Given the description of an element on the screen output the (x, y) to click on. 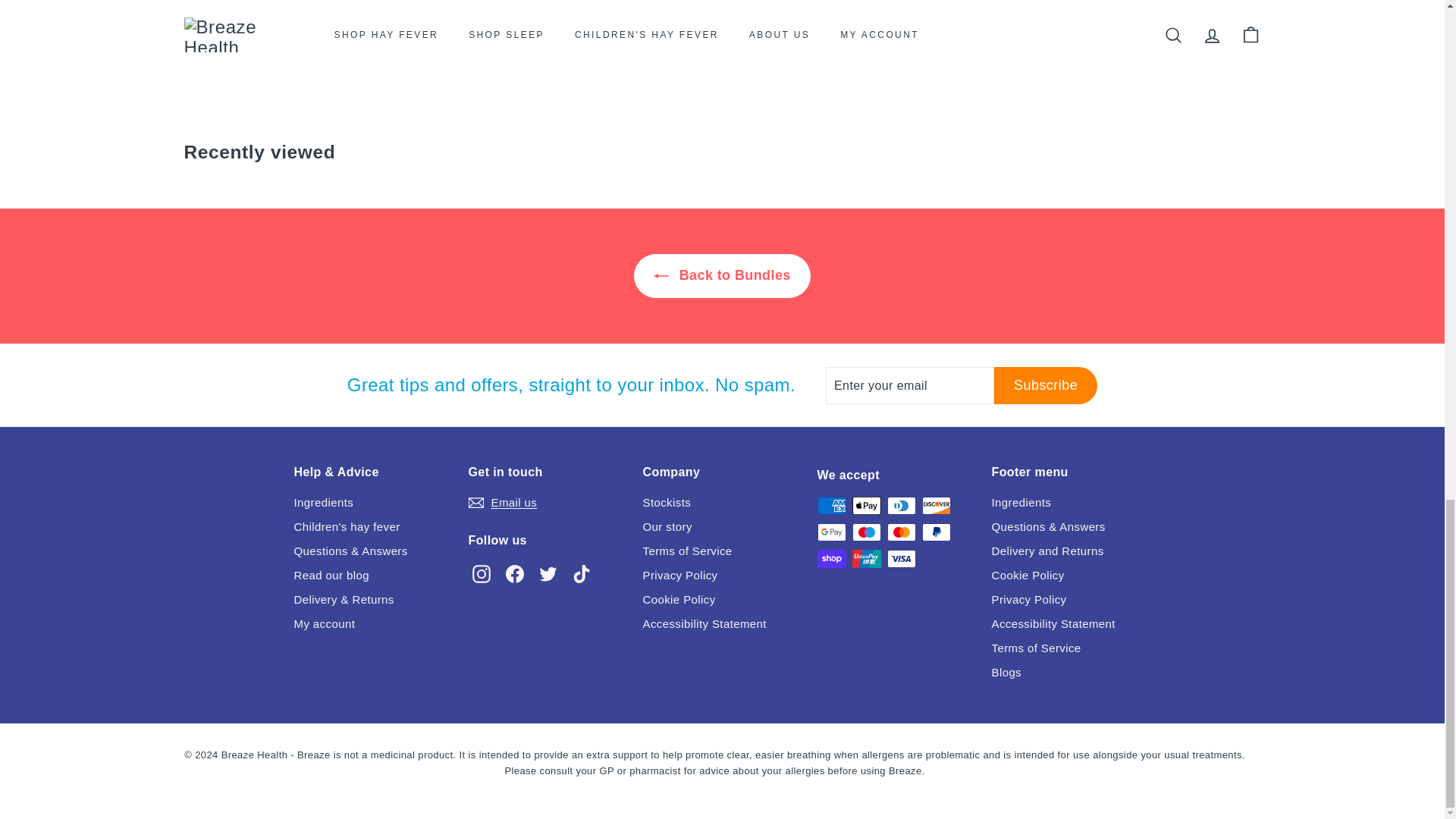
Breaze Health on Instagram (484, 577)
Breaze Health on Facebook (518, 577)
twitter (547, 574)
icon-left-arrow (660, 275)
Breaze Health on TikTok (584, 577)
Breaze Health on Twitter (551, 577)
instagram (480, 574)
American Express (830, 505)
